Given the description of an element on the screen output the (x, y) to click on. 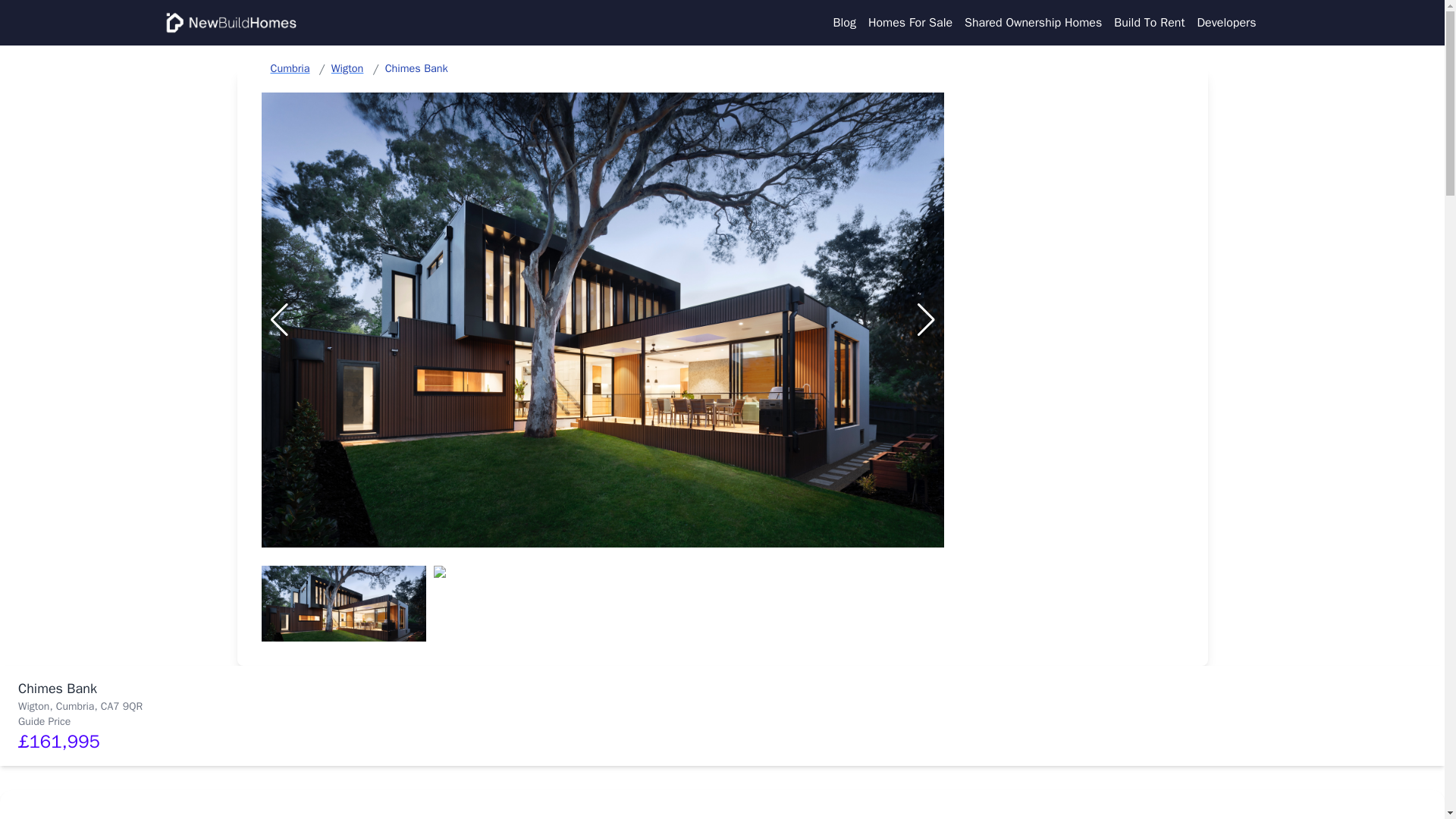
Homes For Sale (909, 22)
Wigton (347, 68)
Build To Rent (1149, 22)
Cumbria (289, 68)
Blog (844, 22)
Shared Ownership Homes (1032, 22)
Developers (1226, 22)
